Given the description of an element on the screen output the (x, y) to click on. 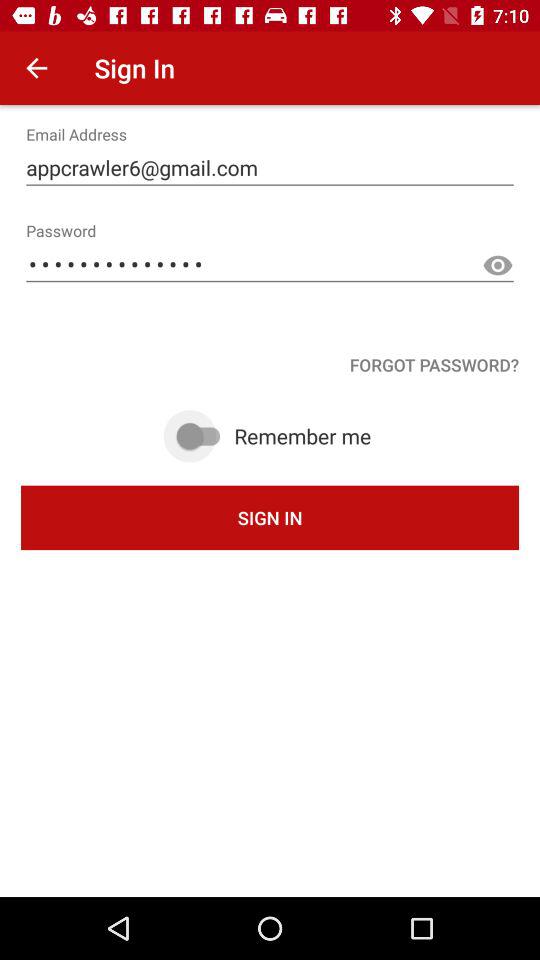
toggle remember me option (201, 436)
